Given the description of an element on the screen output the (x, y) to click on. 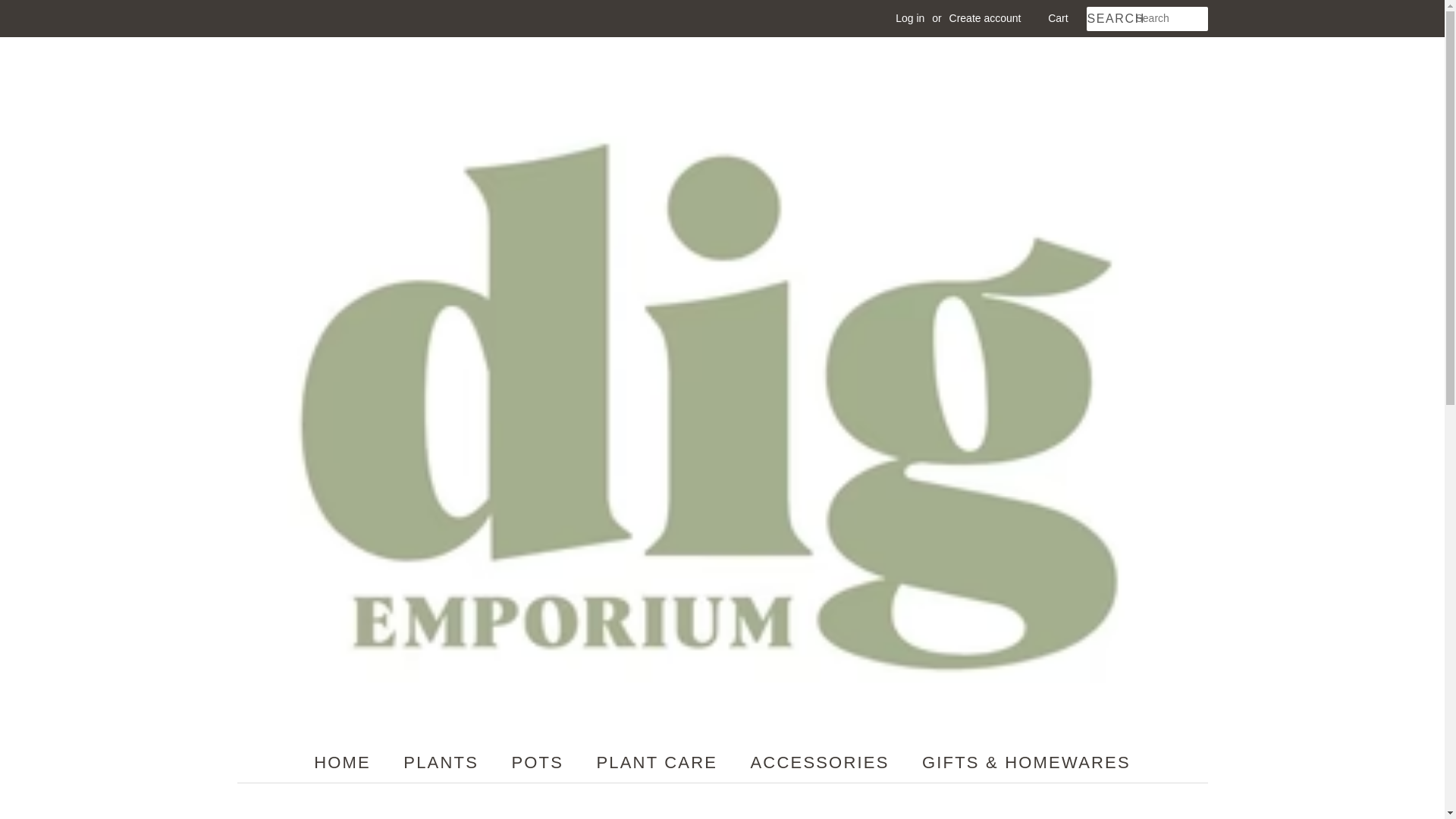
Create account (985, 18)
Cart (1057, 18)
SEARCH (1110, 18)
Log in (909, 18)
